Given the description of an element on the screen output the (x, y) to click on. 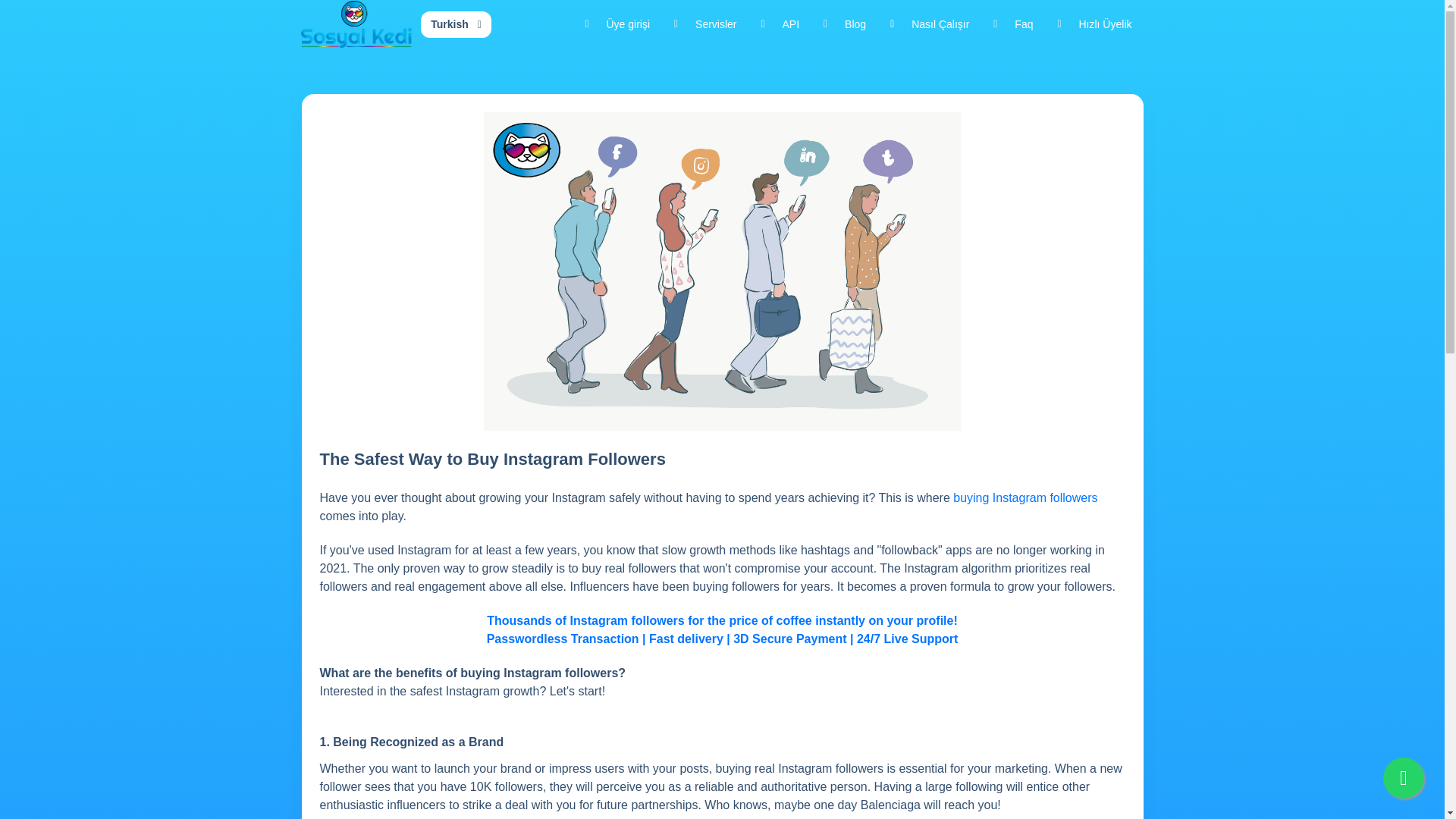
Faq (1013, 24)
Servisler (705, 24)
buying Instagram followers (1025, 498)
Blog (843, 24)
API (780, 24)
